Given the description of an element on the screen output the (x, y) to click on. 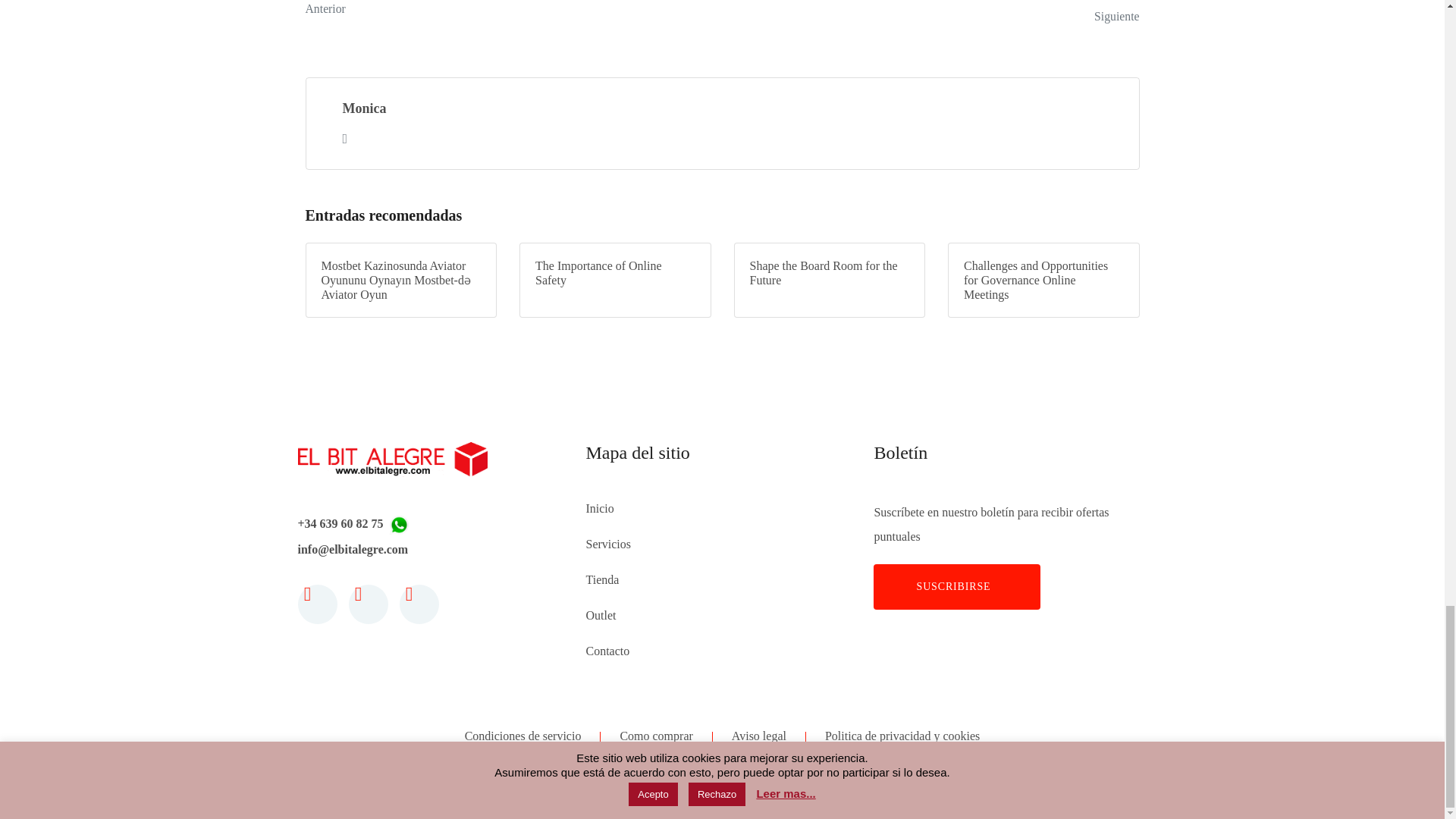
21 Gambling wild jack live casino establishment (508, 13)
Monica (508, 13)
